Given the description of an element on the screen output the (x, y) to click on. 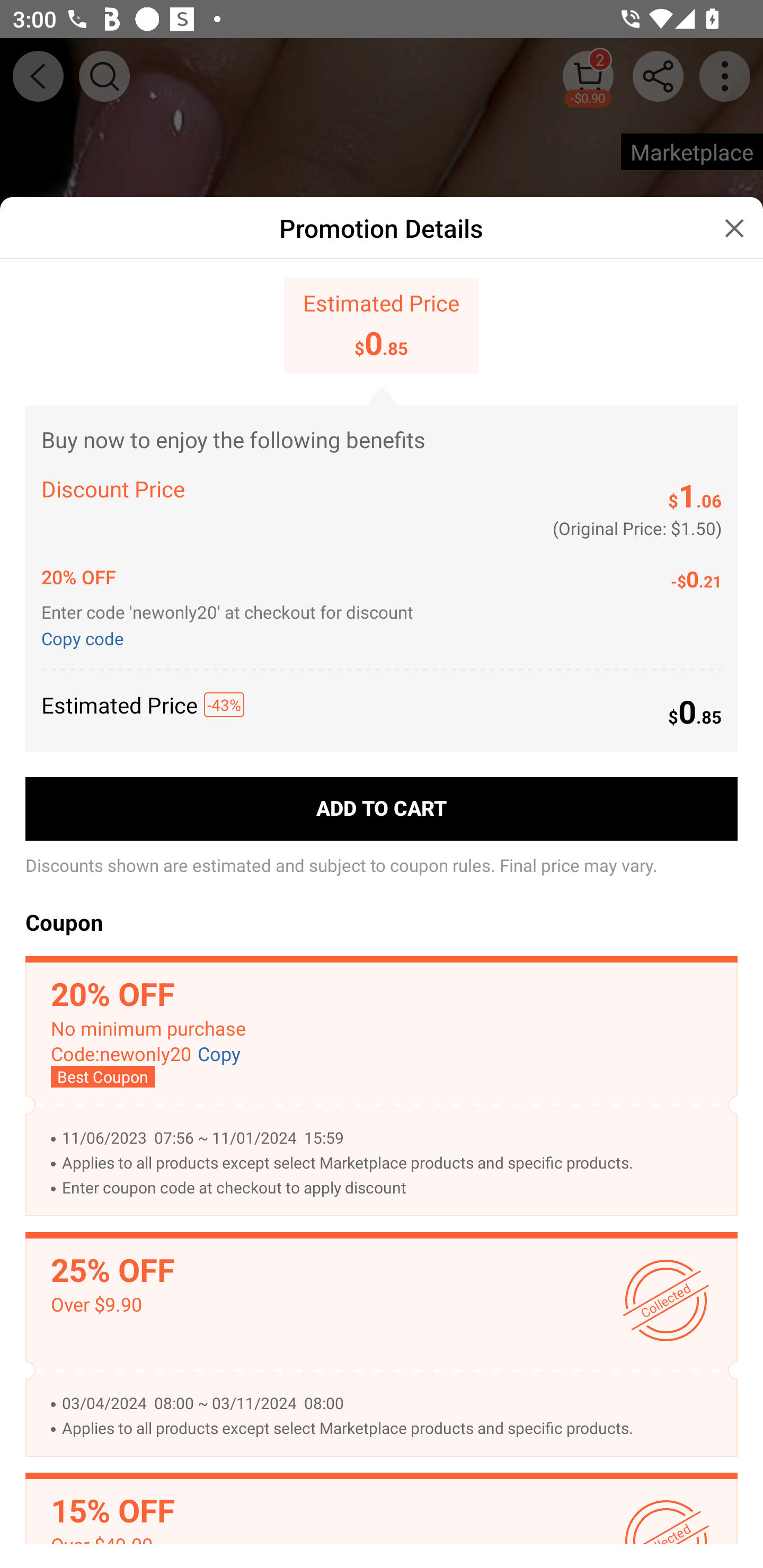
Close (734, 227)
Copy code (85, 637)
ADD TO CART (381, 808)
Copy (219, 1054)
11/06/2023  07:56 ~ 11/01/2024  15:59 (389, 1137)
Enter coupon code at checkout to apply discount (389, 1188)
03/04/2024  08:00 ~ 03/11/2024  08:00 (389, 1402)
